Given the description of an element on the screen output the (x, y) to click on. 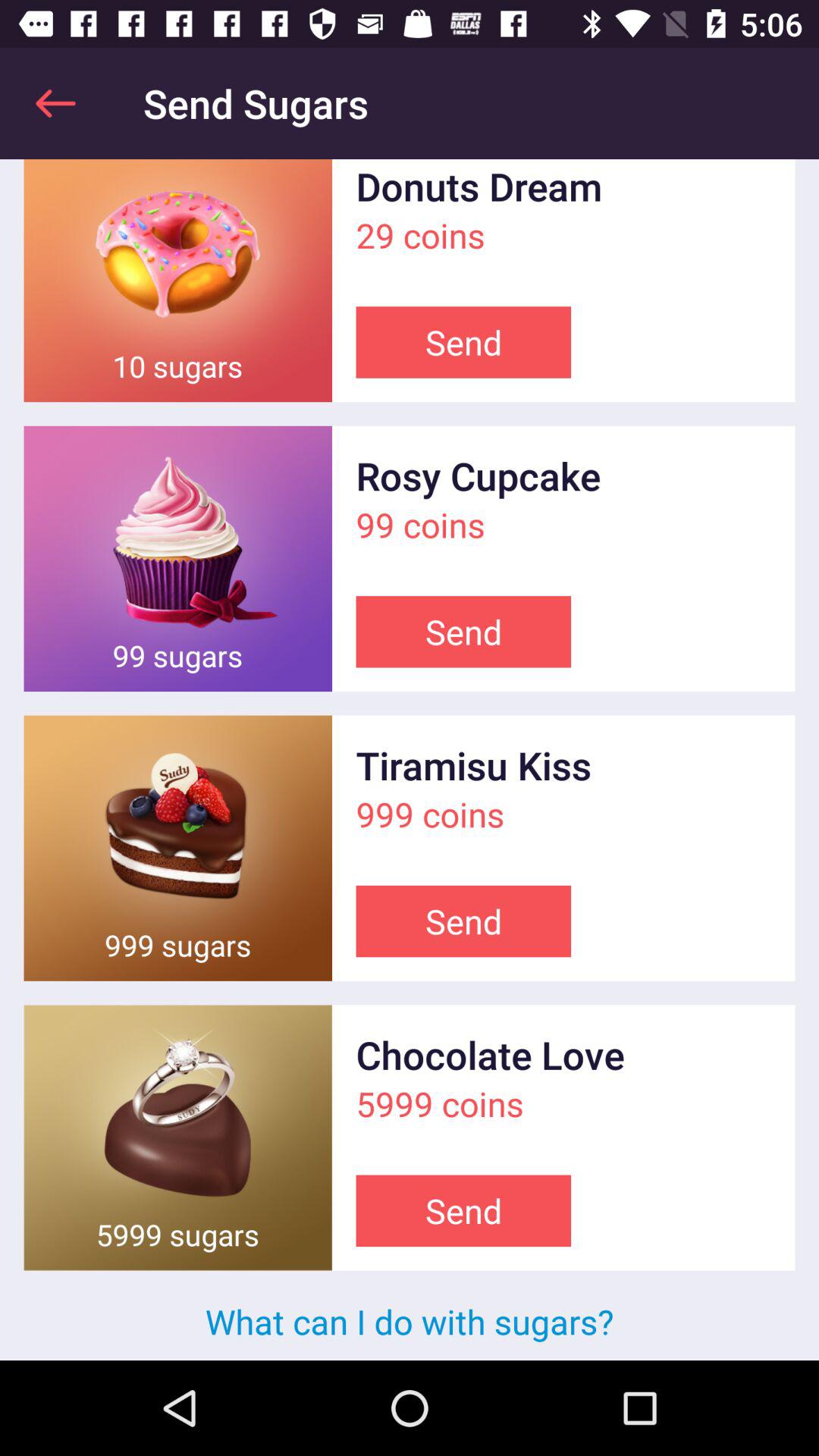
sent a gift (177, 558)
